Given the description of an element on the screen output the (x, y) to click on. 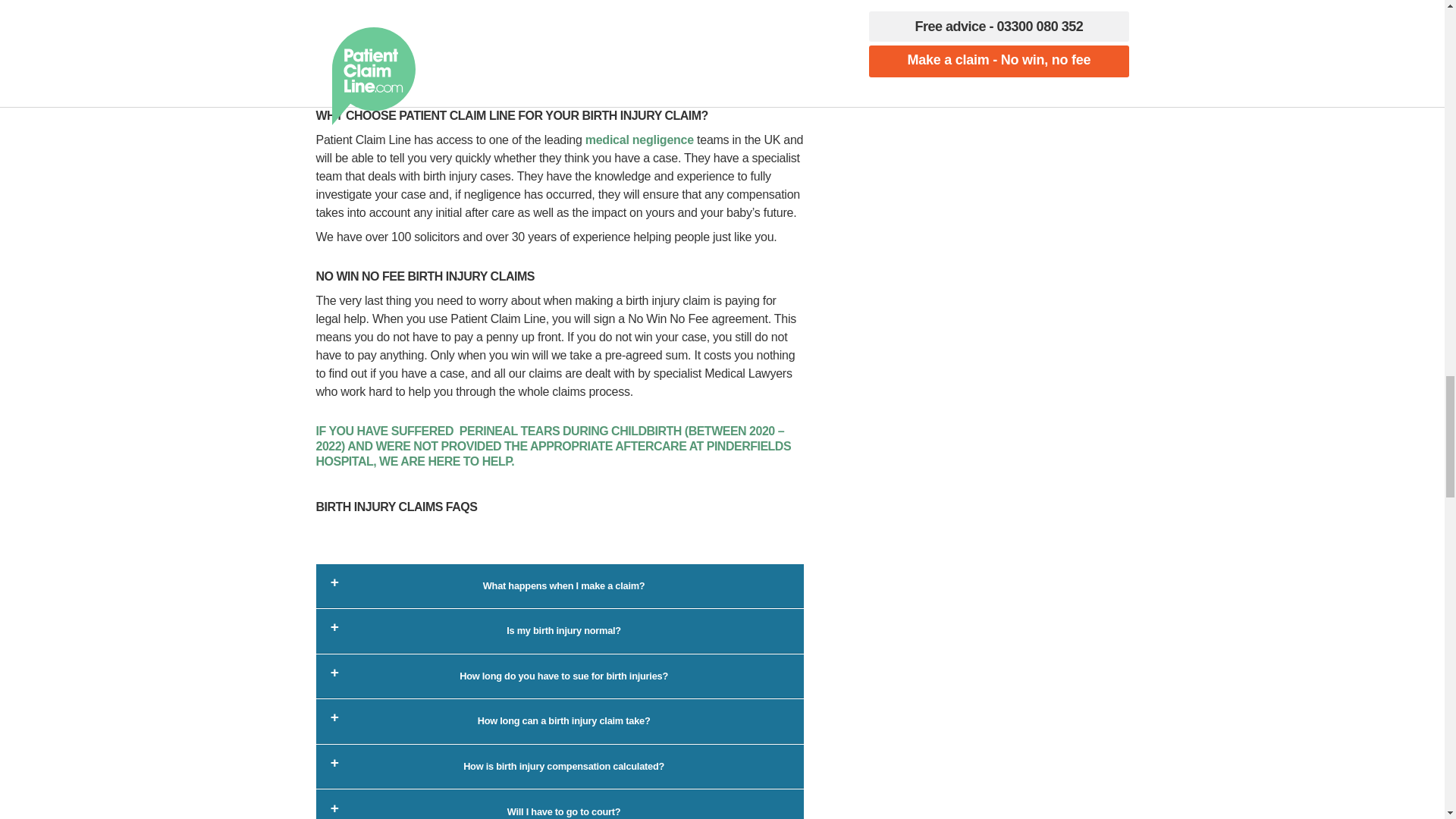
Will I have to go to court? (559, 803)
How long can a birth injury claim take? (559, 720)
How long do you have to sue for birth injuries? (559, 676)
Is my birth injury normal? (559, 630)
medical negligence (639, 139)
What happens when I make a claim? (559, 585)
How is birth injury compensation calculated? (559, 766)
